Given the description of an element on the screen output the (x, y) to click on. 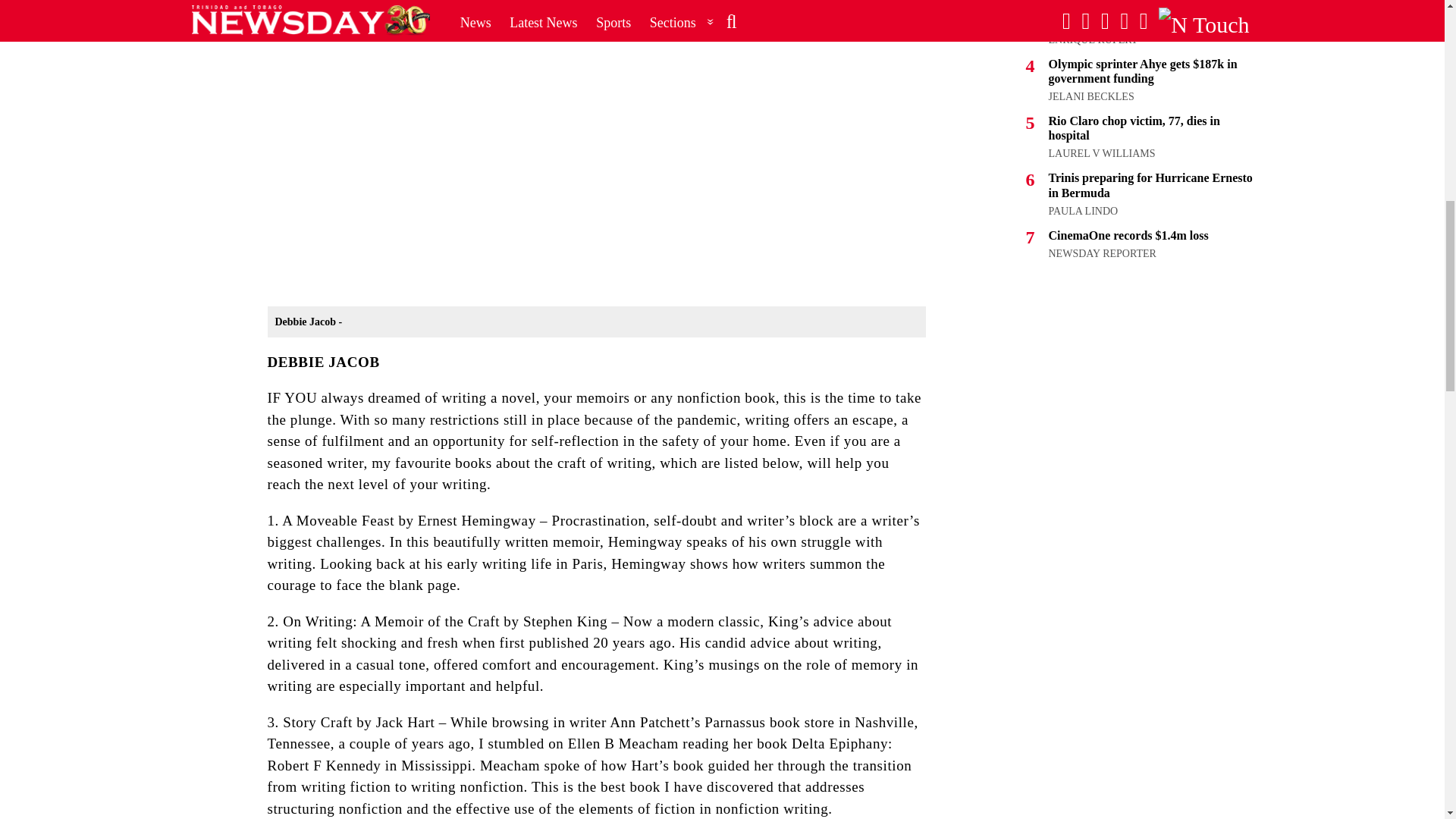
JELANI BECKLES (1091, 96)
Rio Claro chop victim, 77, dies in hospital (1134, 127)
NEWSDAY REPORTER (1102, 253)
PAULA LINDO (1083, 211)
Trinis preparing for Hurricane Ernesto in Bermuda (1150, 185)
ENRIQUE RUPERT (1092, 39)
LAUREL V WILLIAMS (1101, 153)
